Given the description of an element on the screen output the (x, y) to click on. 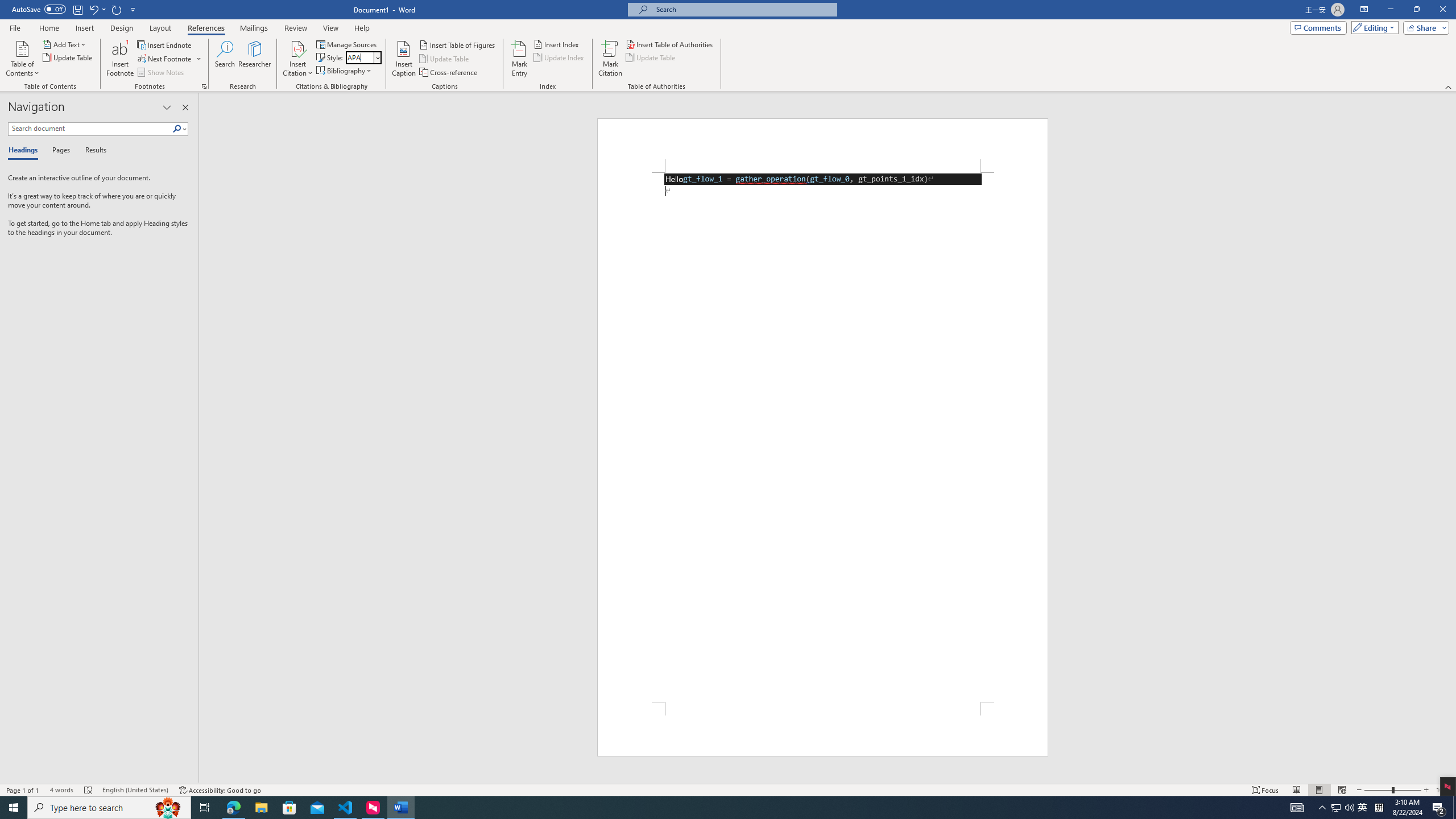
References (205, 28)
Repeat Underline Style (117, 9)
Insert (83, 28)
Close pane (185, 107)
More Options (199, 58)
Search (224, 58)
Insert Endnote (165, 44)
File Tab (15, 27)
Zoom (1392, 790)
Minimize (1390, 9)
System (6, 6)
Save (77, 9)
Close (1442, 9)
Insert Table of Authorities... (670, 44)
